Given the description of an element on the screen output the (x, y) to click on. 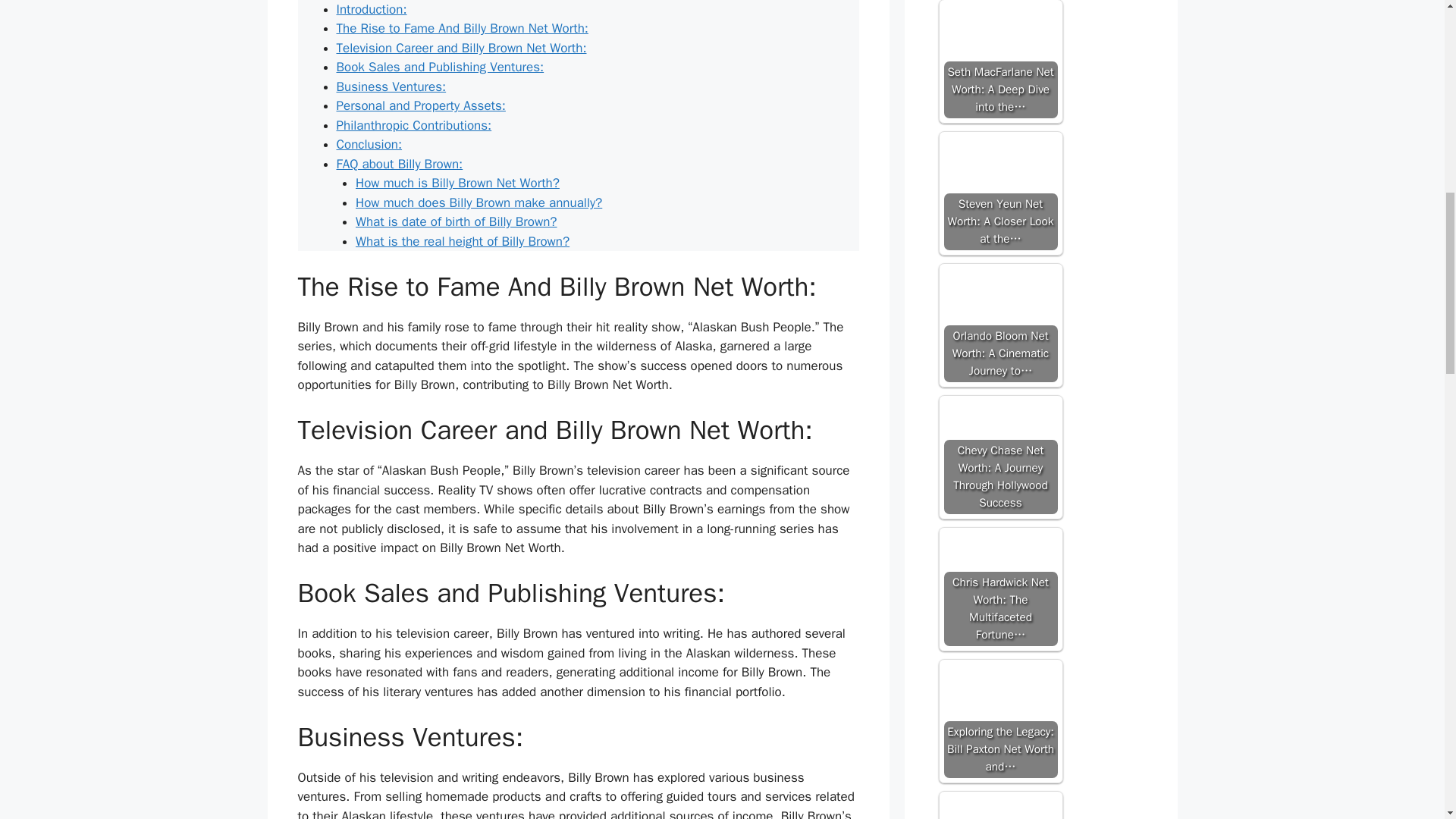
Book Sales and Publishing Ventures: (440, 66)
Television Career and Billy Brown Net Worth: (461, 48)
Business Ventures: (391, 86)
Philanthropic Contributions: (414, 125)
Introduction: (371, 9)
Conclusion: (369, 144)
The Rise to Fame And Billy Brown Net Worth: (462, 28)
Personal and Property Assets: (420, 105)
